Given the description of an element on the screen output the (x, y) to click on. 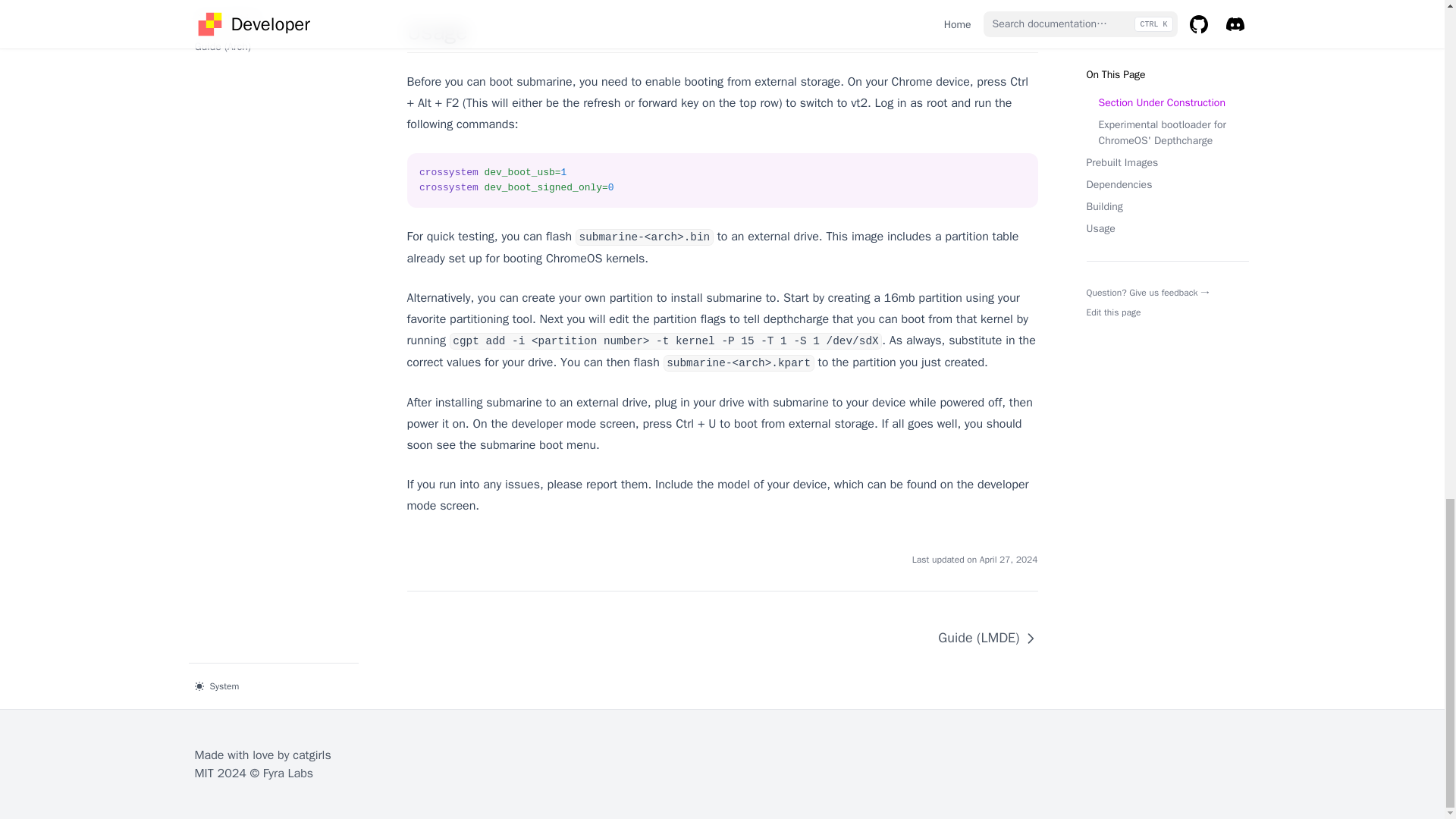
Fyra Labs (288, 773)
